Given the description of an element on the screen output the (x, y) to click on. 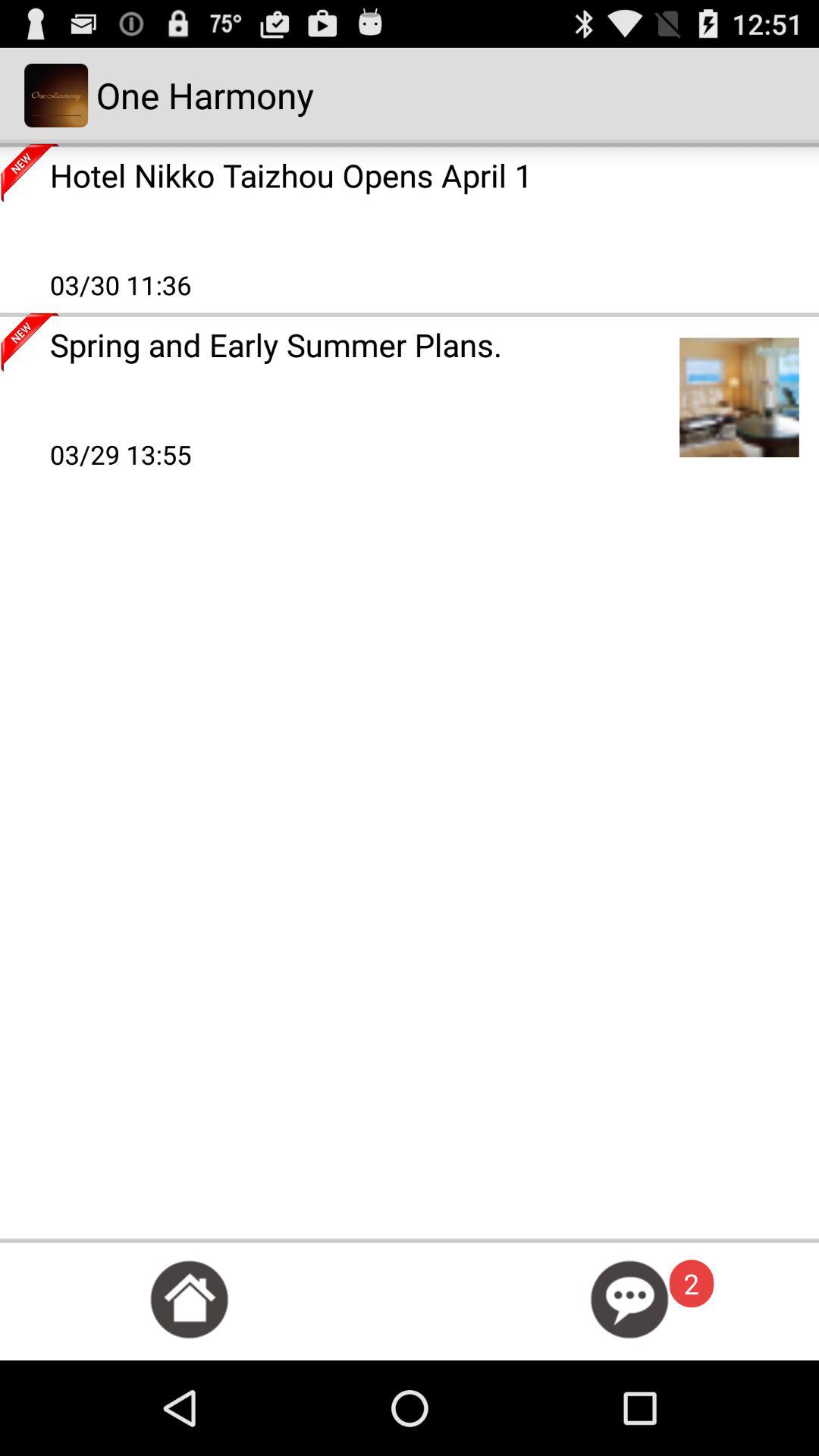
open chat (629, 1299)
